Given the description of an element on the screen output the (x, y) to click on. 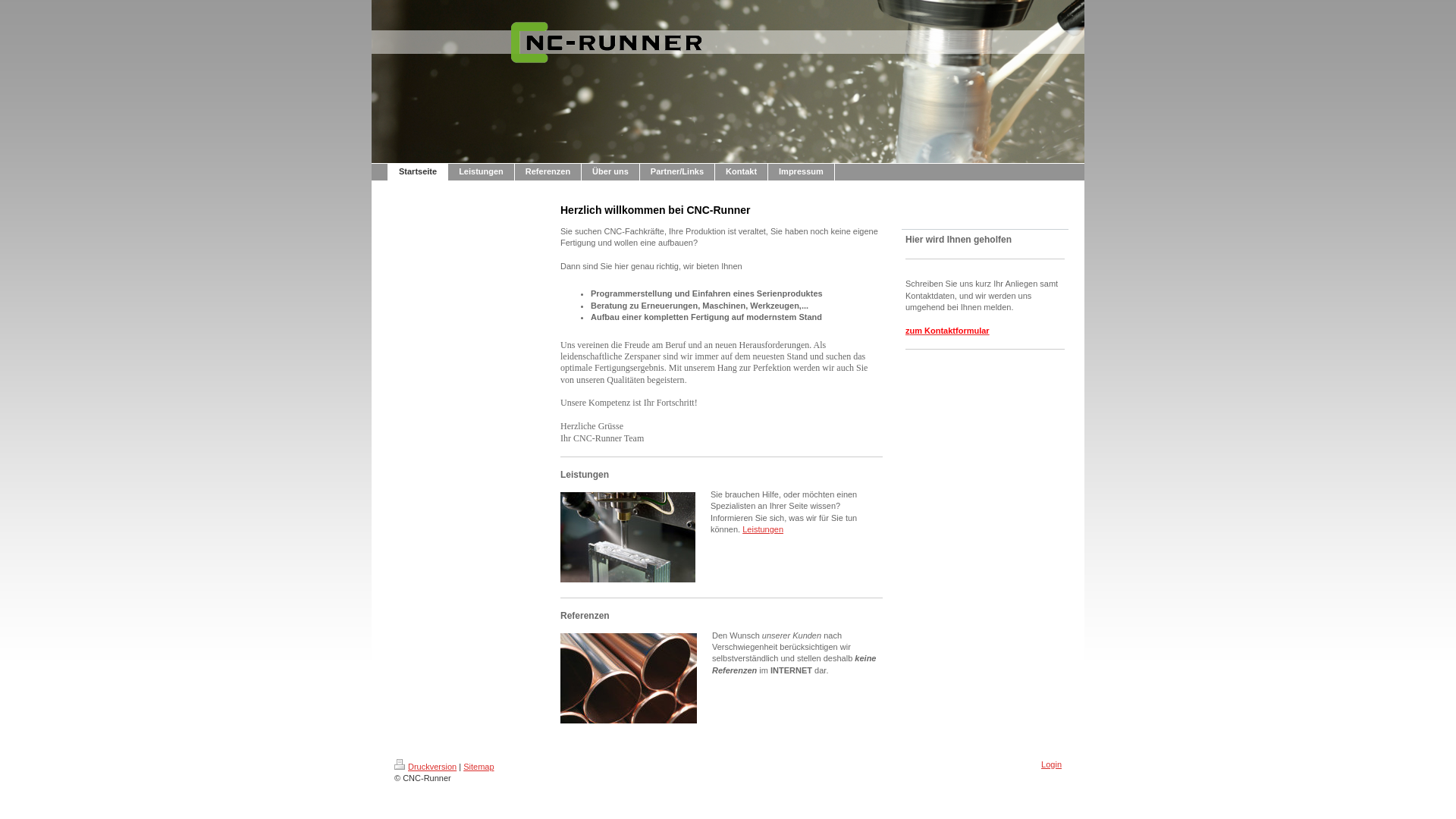
Login Element type: text (1051, 763)
z Element type: text (907, 330)
Kontakt Element type: text (741, 172)
Referenzen Element type: text (547, 172)
Druckversion Element type: text (425, 766)
um Kontaktformular Element type: text (949, 330)
Startseite Element type: text (418, 172)
Partner/Links Element type: text (677, 172)
Sitemap Element type: text (478, 766)
Impressum Element type: text (801, 172)
Leistungen Element type: text (481, 172)
Leistungen Element type: text (762, 528)
